Given the description of an element on the screen output the (x, y) to click on. 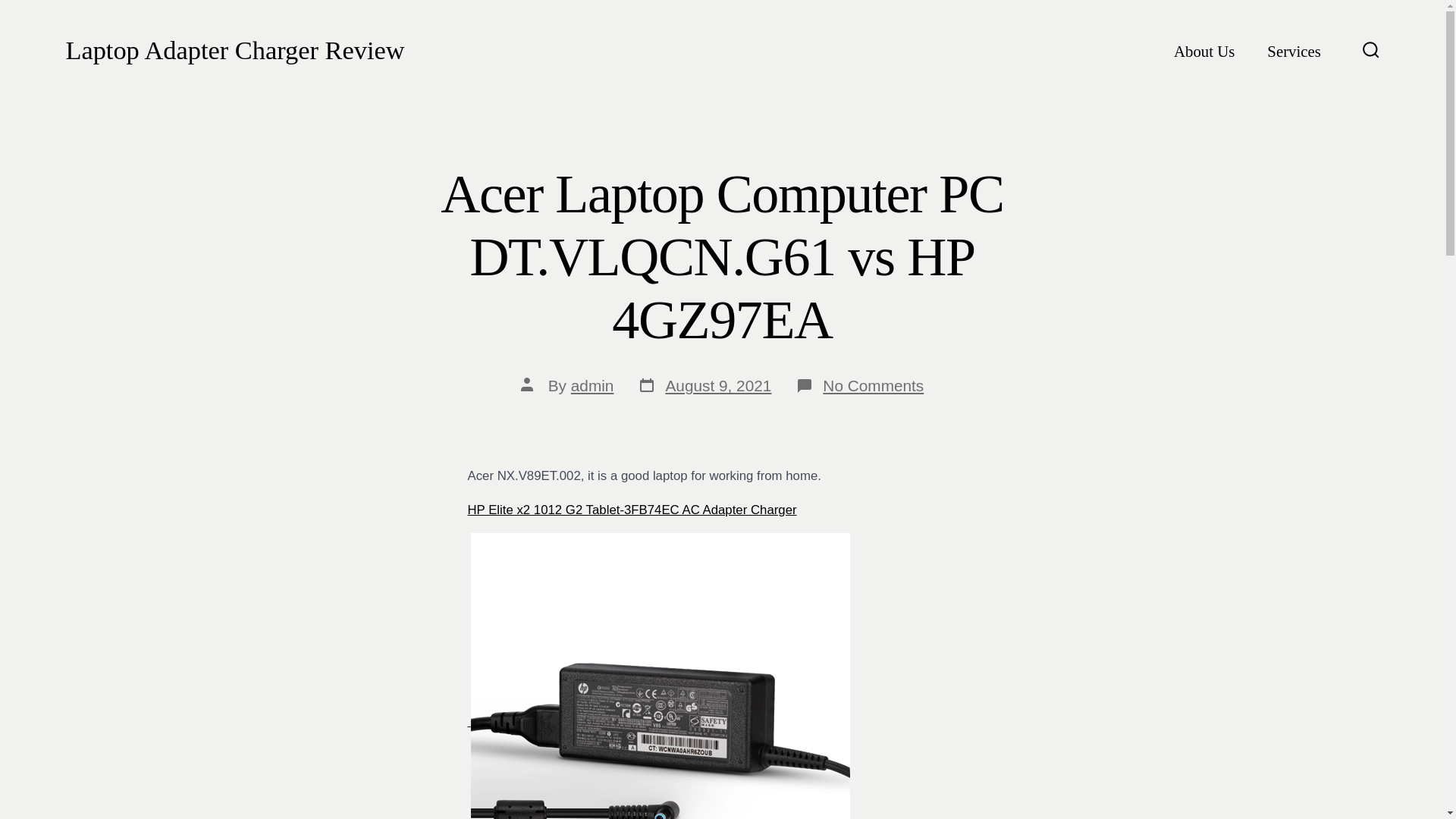
Search Toggle (1371, 50)
HP Elite x2 1012 G2 Tablet-3FB74EC AC Adapter Charger (631, 509)
admin (592, 384)
About Us (1203, 51)
Laptop Adapter Charger Review (234, 51)
Services (1293, 51)
